Given the description of an element on the screen output the (x, y) to click on. 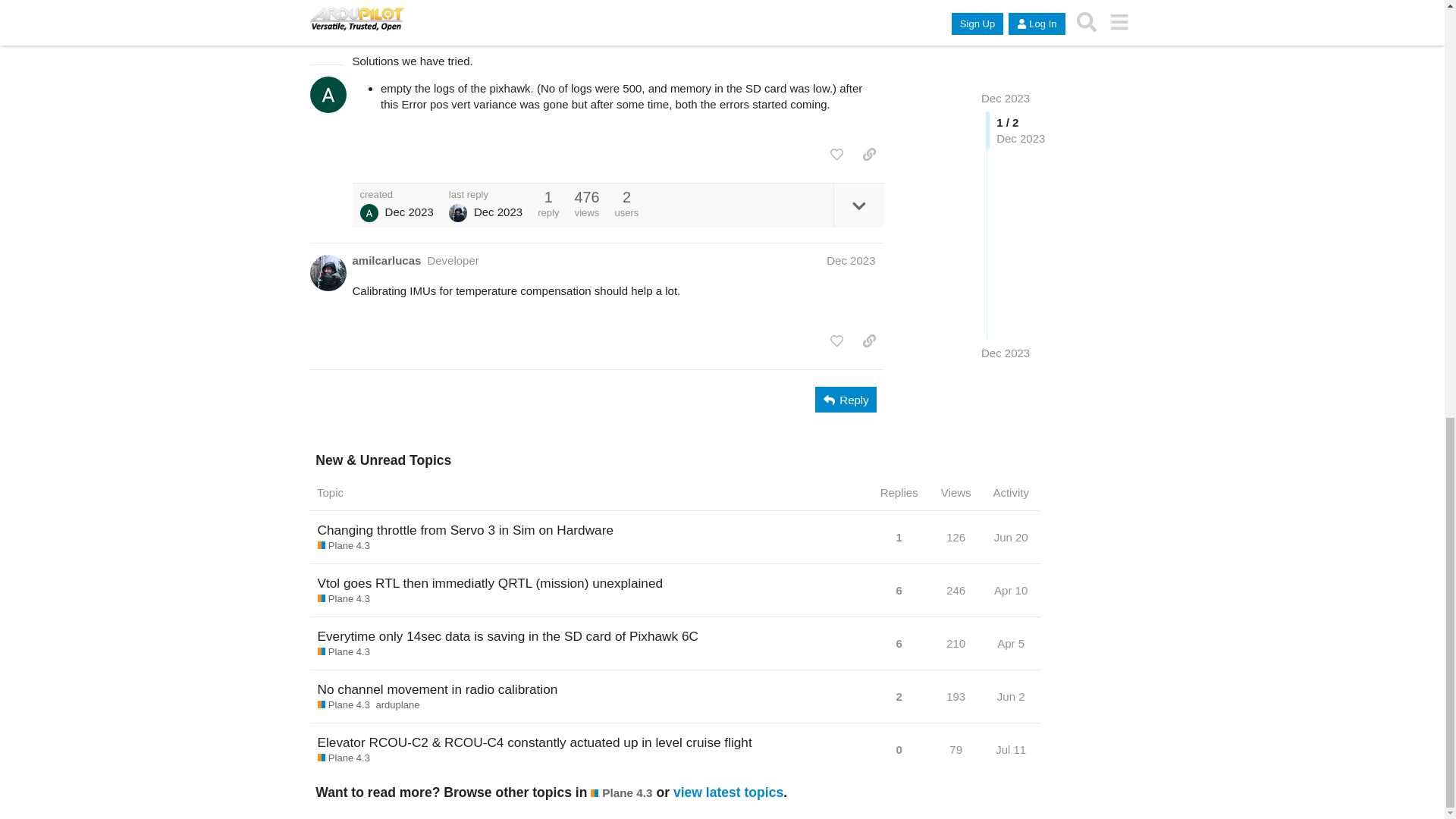
Developer (452, 259)
last reply (485, 194)
expand topic details (857, 205)
Dec 28, 2023 2:28 pm (409, 211)
like this post (836, 154)
Ashesh Rai (368, 212)
amilcarlucas (386, 260)
copy a link to this post to clipboard (869, 154)
